Given the description of an element on the screen output the (x, y) to click on. 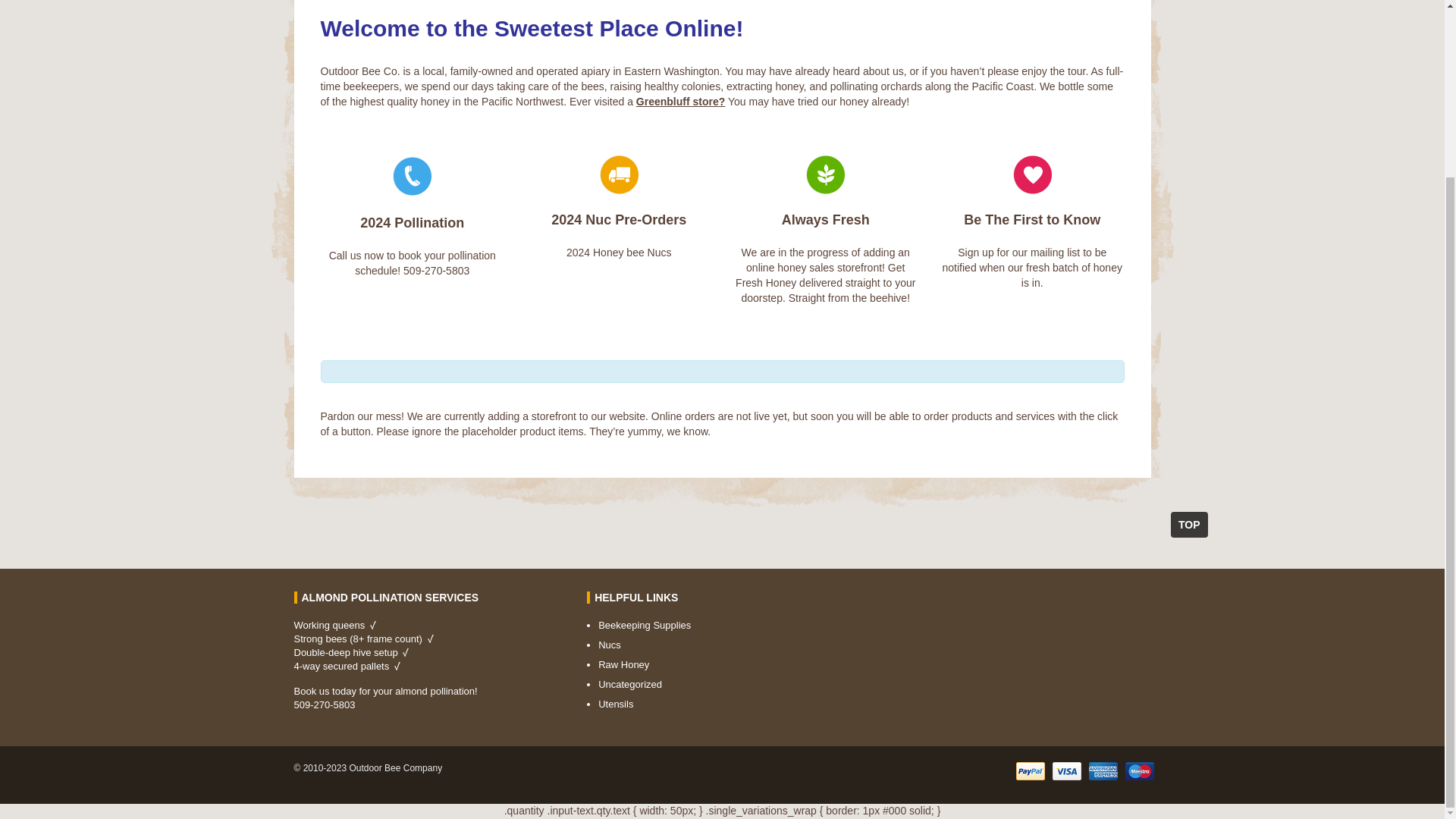
Utensils (615, 704)
TOP (1189, 524)
Raw Honey (623, 664)
Nucs (609, 644)
Beekeeping Supplies (644, 624)
2024 Honey bee Nucs (618, 252)
Uncategorized (630, 684)
Greenbluff store (677, 101)
